Given the description of an element on the screen output the (x, y) to click on. 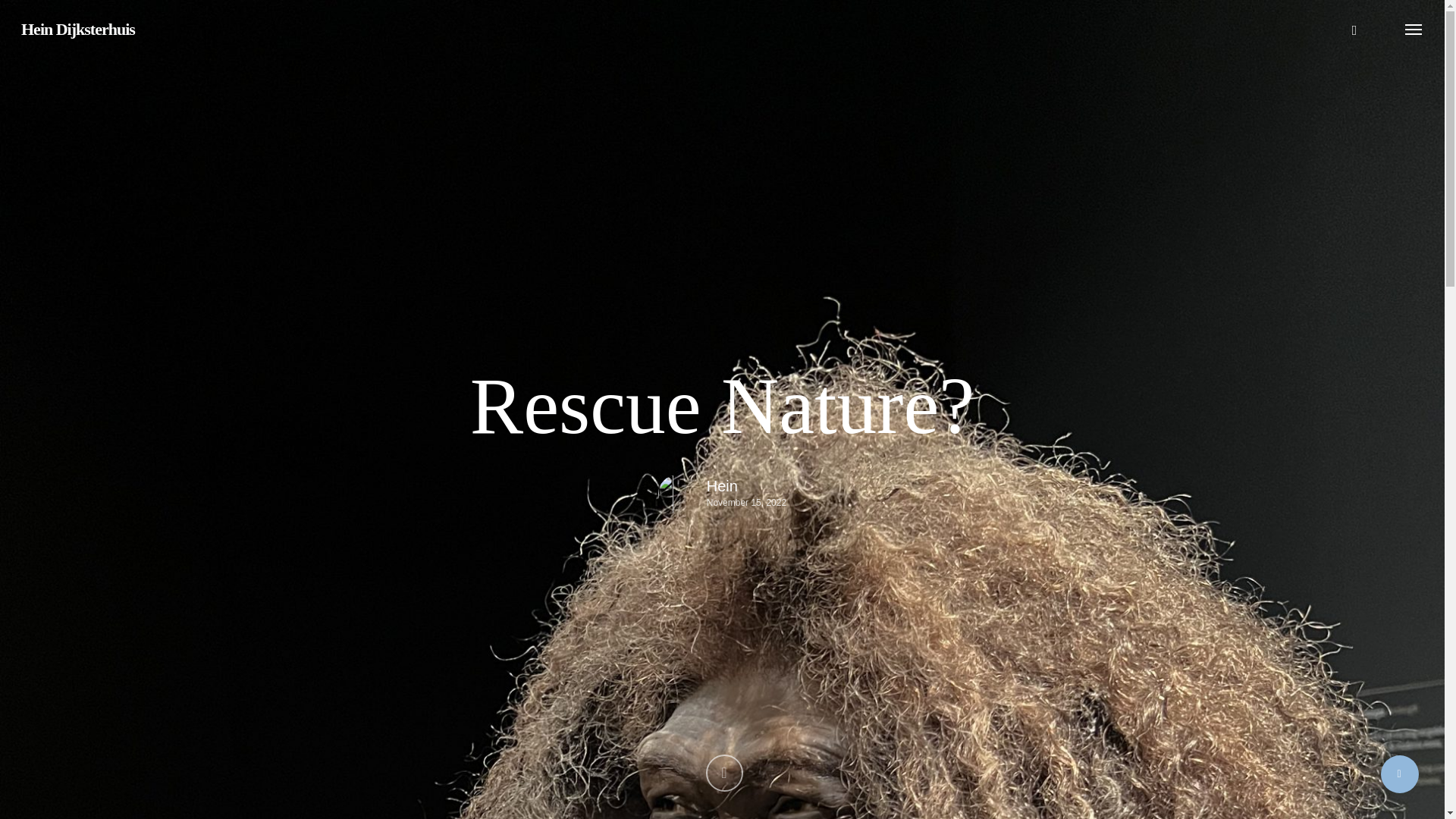
Menu (1414, 29)
Posts by Hein (746, 486)
Hein (746, 486)
Hein Dijksterhuis (78, 29)
